Given the description of an element on the screen output the (x, y) to click on. 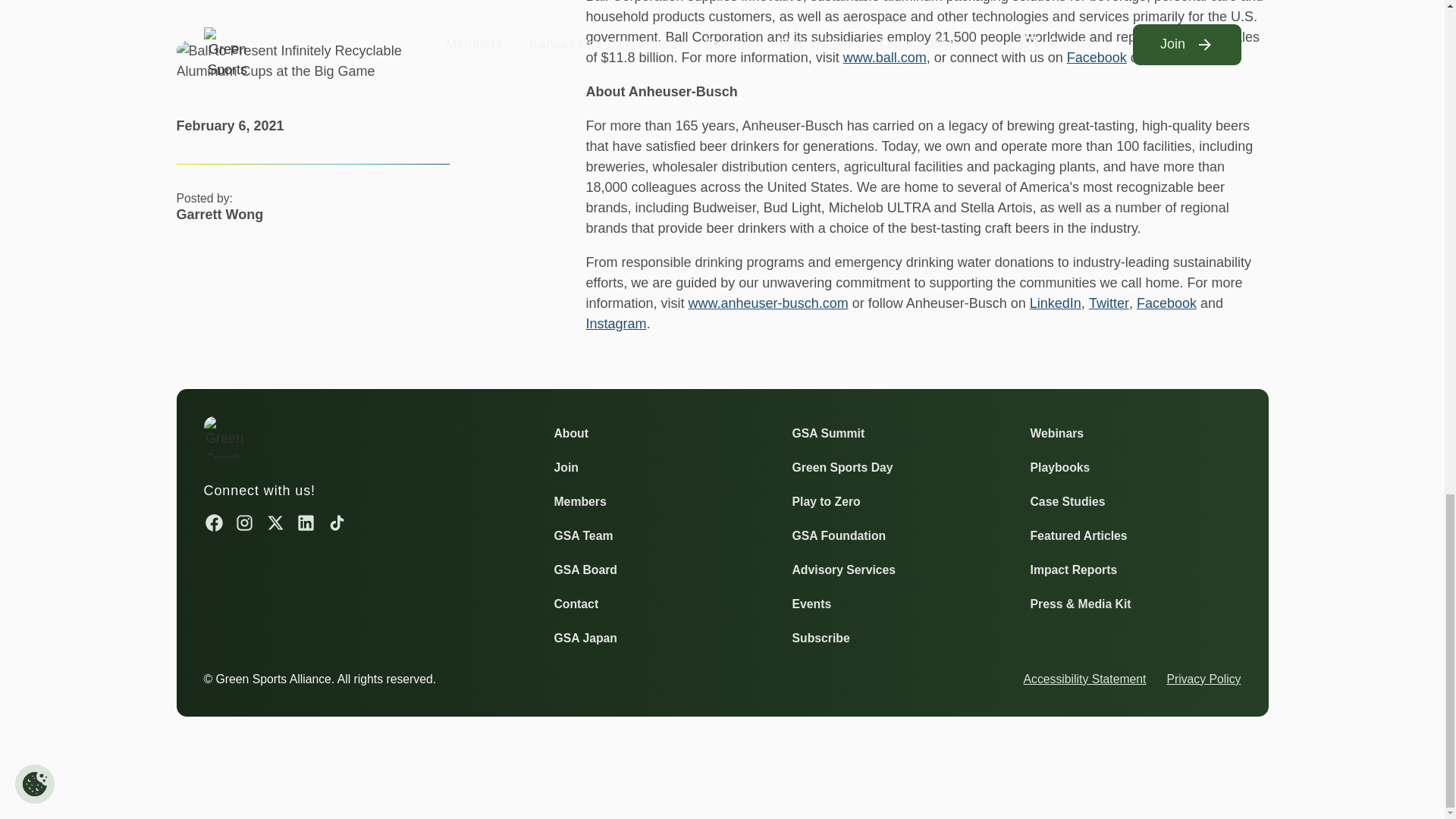
www.ball.com (884, 57)
www.anheuser-busch.com (768, 303)
Twitter (1166, 57)
LinkedIn (1055, 303)
Facebook (1096, 57)
